Given the description of an element on the screen output the (x, y) to click on. 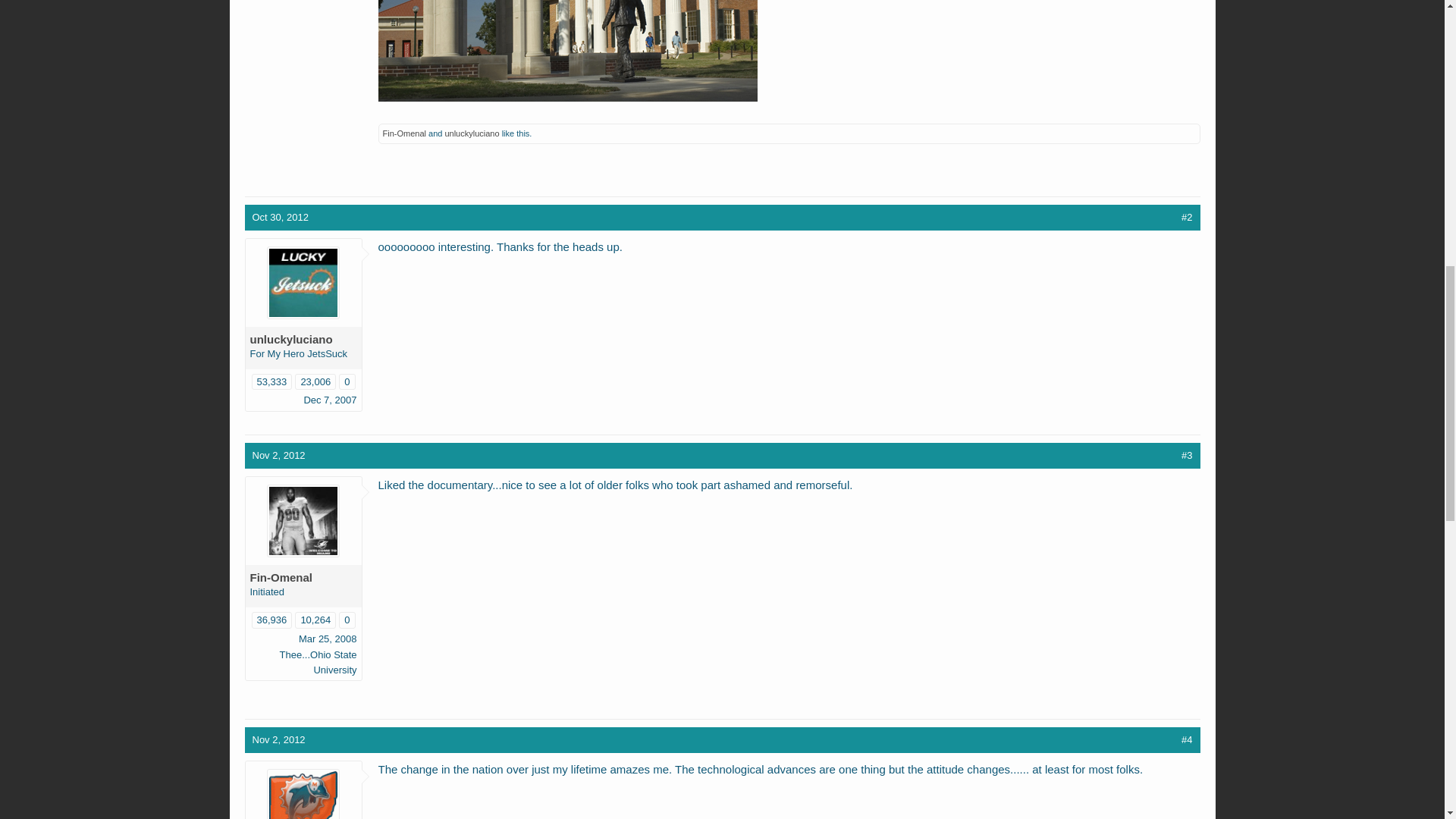
unluckyluciano (471, 133)
Permalink (279, 216)
Fin-Omenal (403, 133)
Permalink (1186, 216)
Oct 30, 2012 (279, 216)
